Given the description of an element on the screen output the (x, y) to click on. 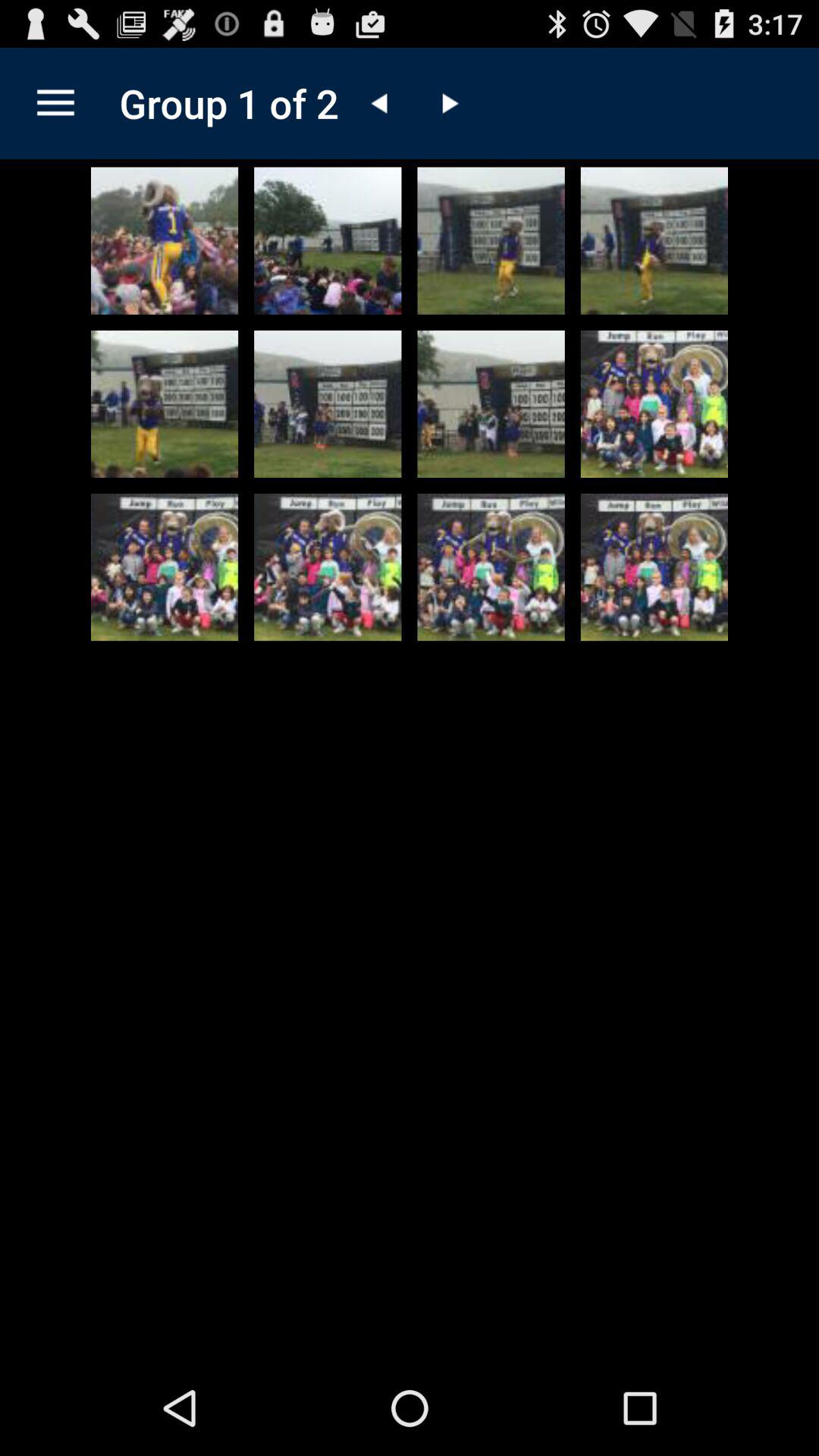
open image (327, 240)
